Given the description of an element on the screen output the (x, y) to click on. 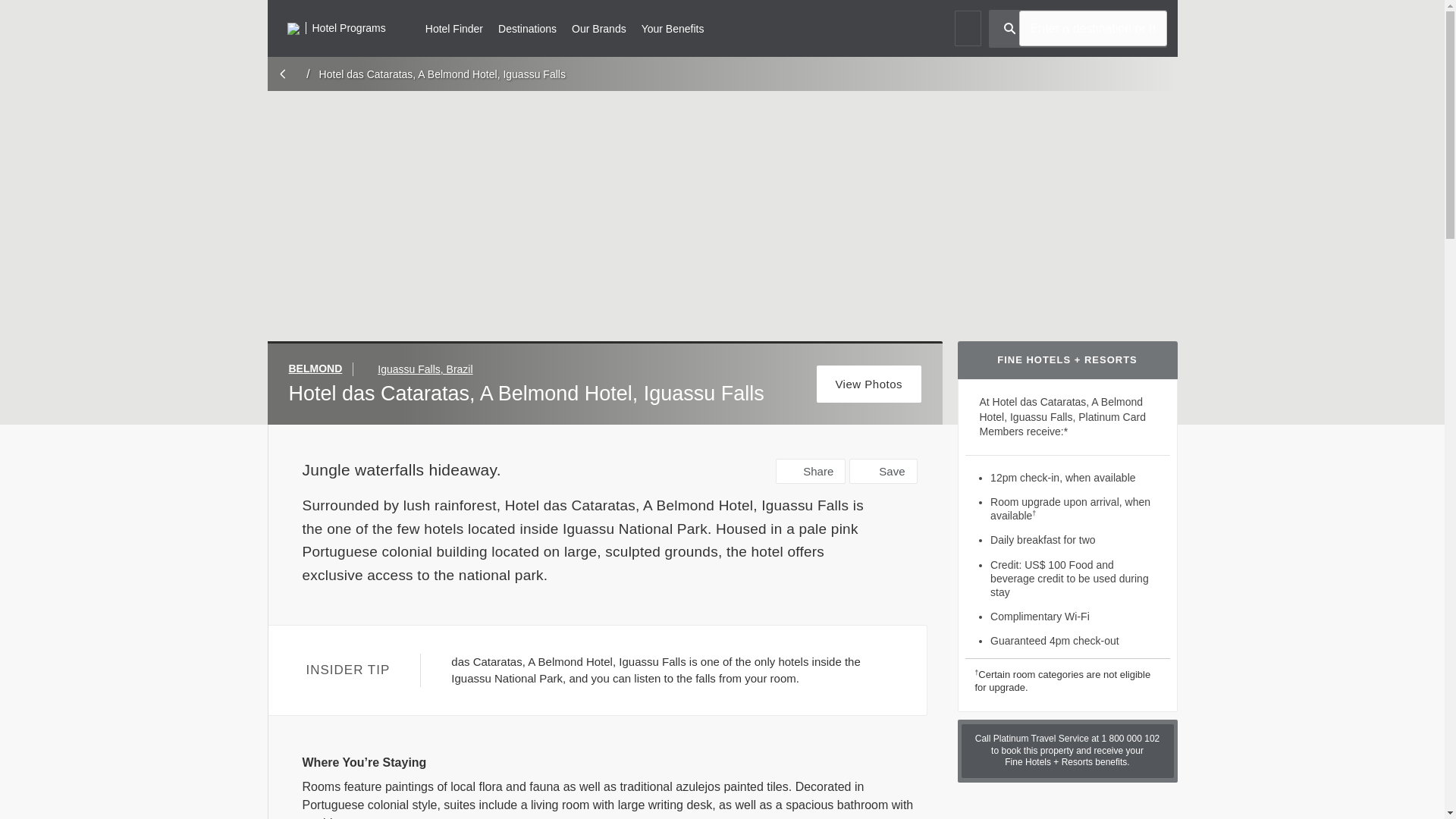
Our Brands (599, 27)
Your Benefits (673, 27)
Share (810, 471)
Hotel Finder (454, 27)
Hotel Programs (335, 27)
Save (882, 471)
Iguassu Falls, Brazil (424, 369)
BELMOND (320, 368)
Destinations (526, 27)
View Photos (868, 383)
Favorites (966, 27)
